Given the description of an element on the screen output the (x, y) to click on. 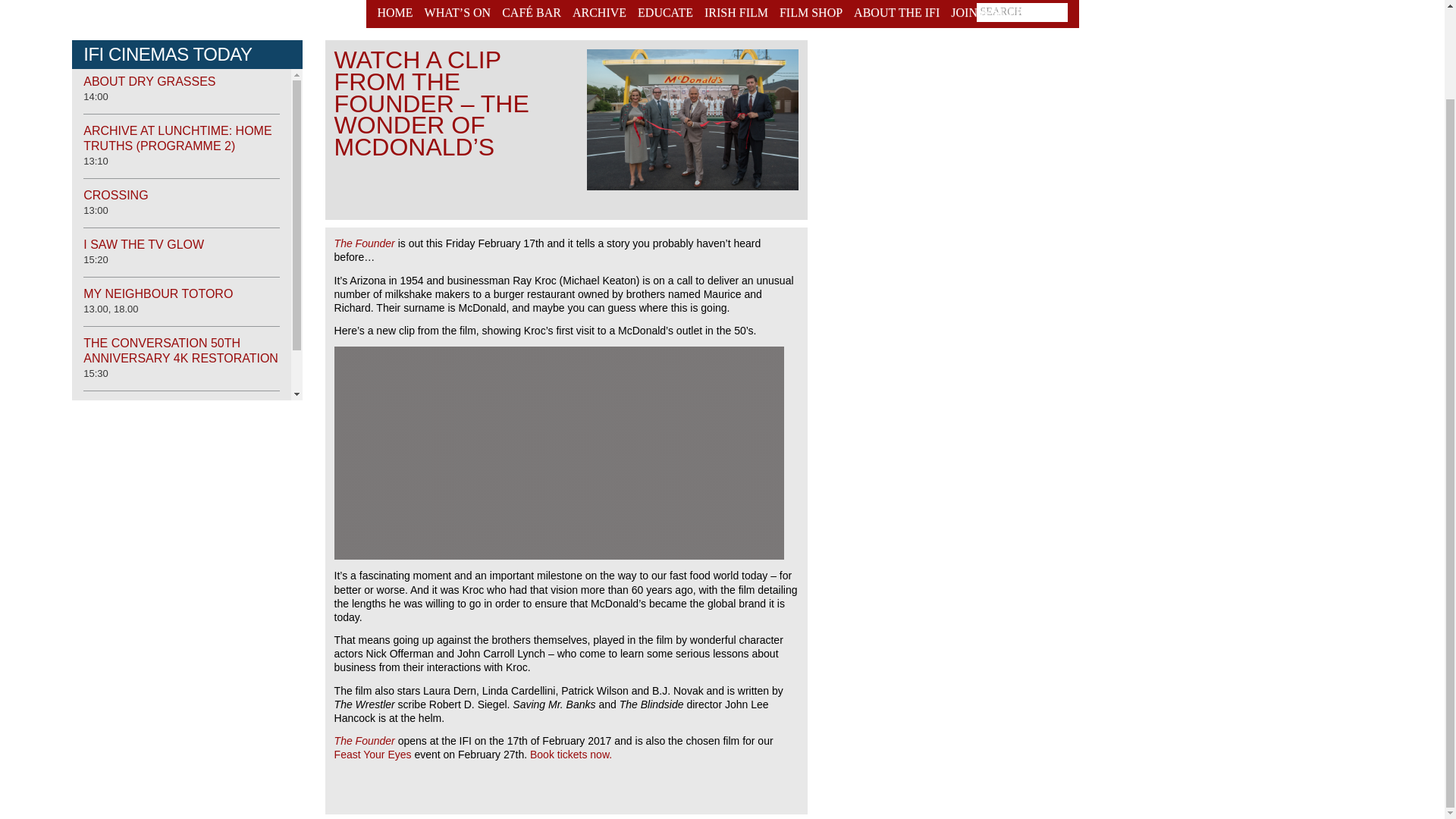
HOME (398, 13)
ARCHIVE (598, 13)
